Given the description of an element on the screen output the (x, y) to click on. 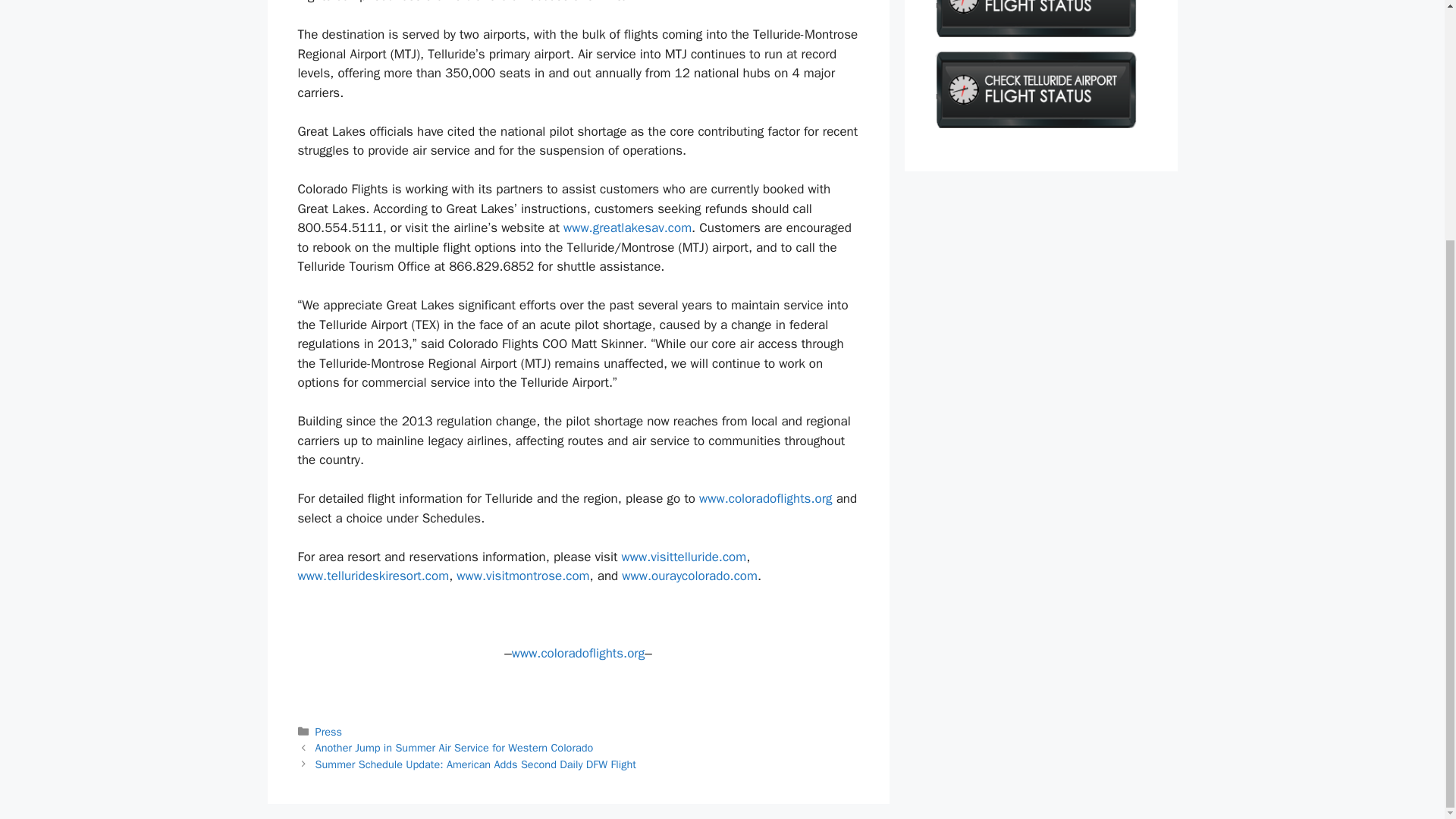
www.greatlakesav.com (627, 227)
www.coloradoflights.org (765, 498)
www.tellurideskiresort.com (372, 575)
Next (475, 764)
www.ouraycolorado.com (689, 575)
Another Jump in Summer Air Service for Western Colorado (454, 747)
www.coloradoflights.org (578, 652)
Press (328, 731)
Previous (454, 747)
www.visitmontrose.com (523, 575)
